Given the description of an element on the screen output the (x, y) to click on. 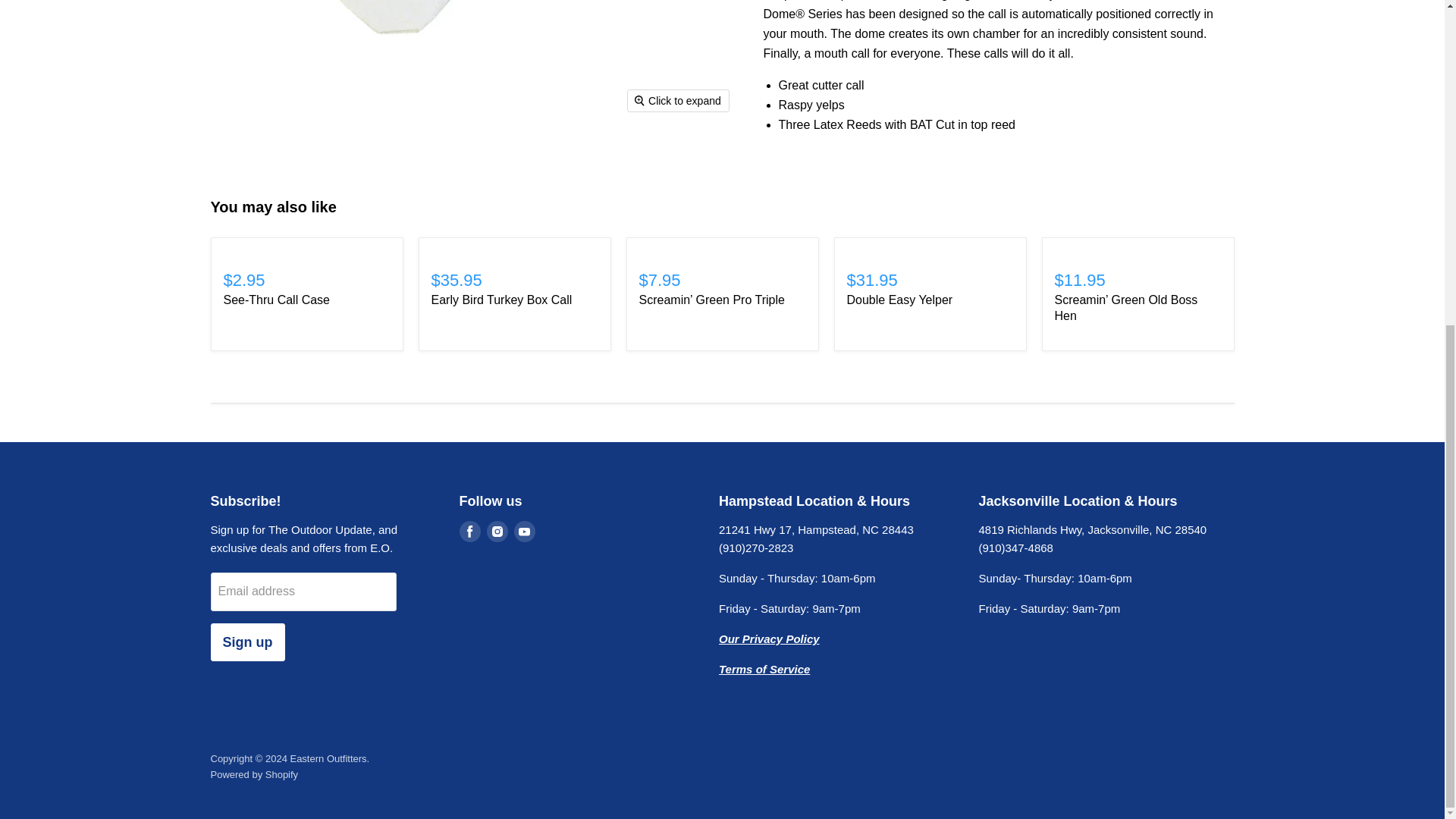
Facebook (470, 531)
Youtube (524, 531)
Instagram (497, 531)
Privacy Policy (769, 638)
Terms of Service (764, 668)
